Given the description of an element on the screen output the (x, y) to click on. 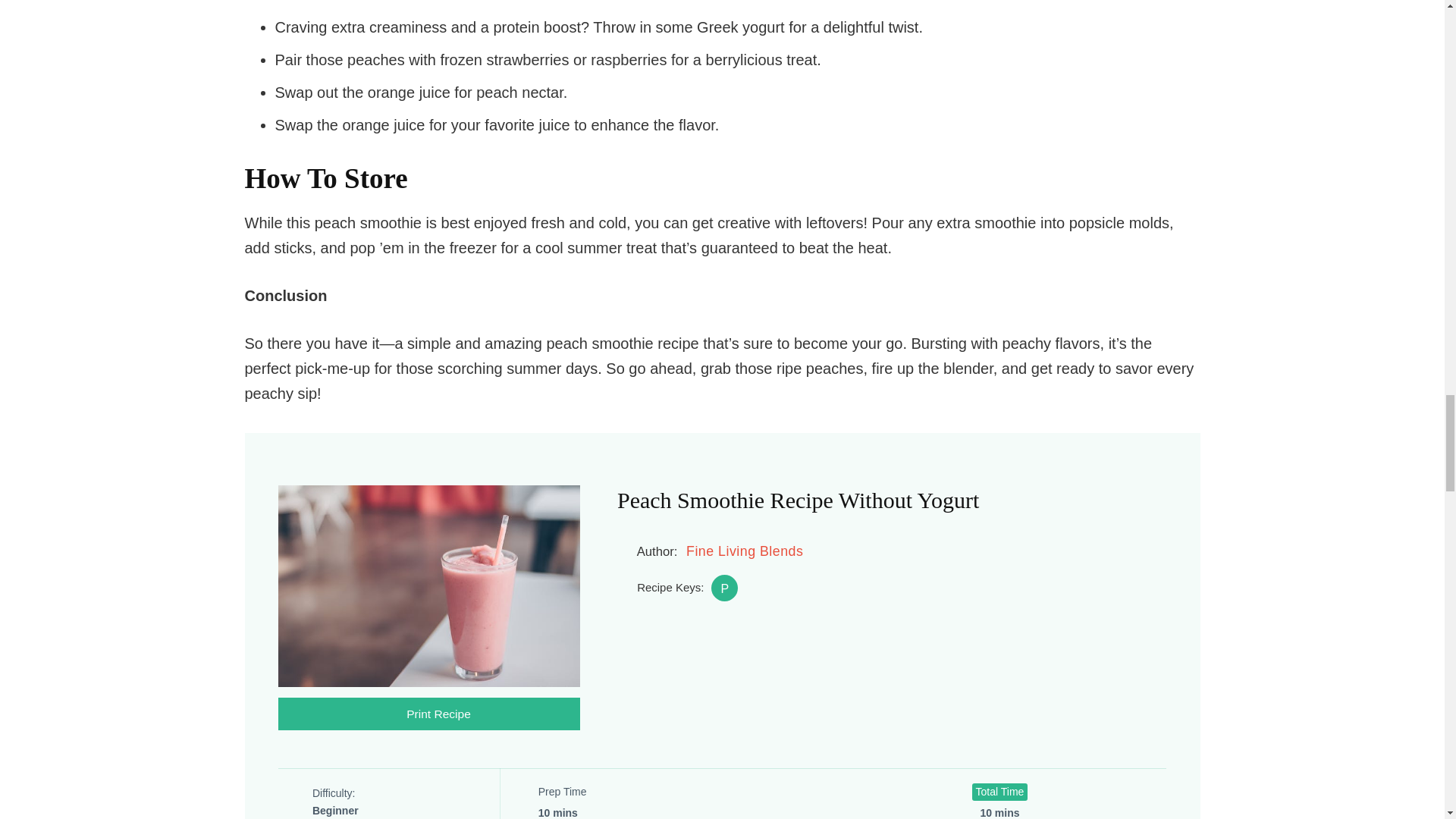
peach smoothie no yogurt (724, 587)
